Given the description of an element on the screen output the (x, y) to click on. 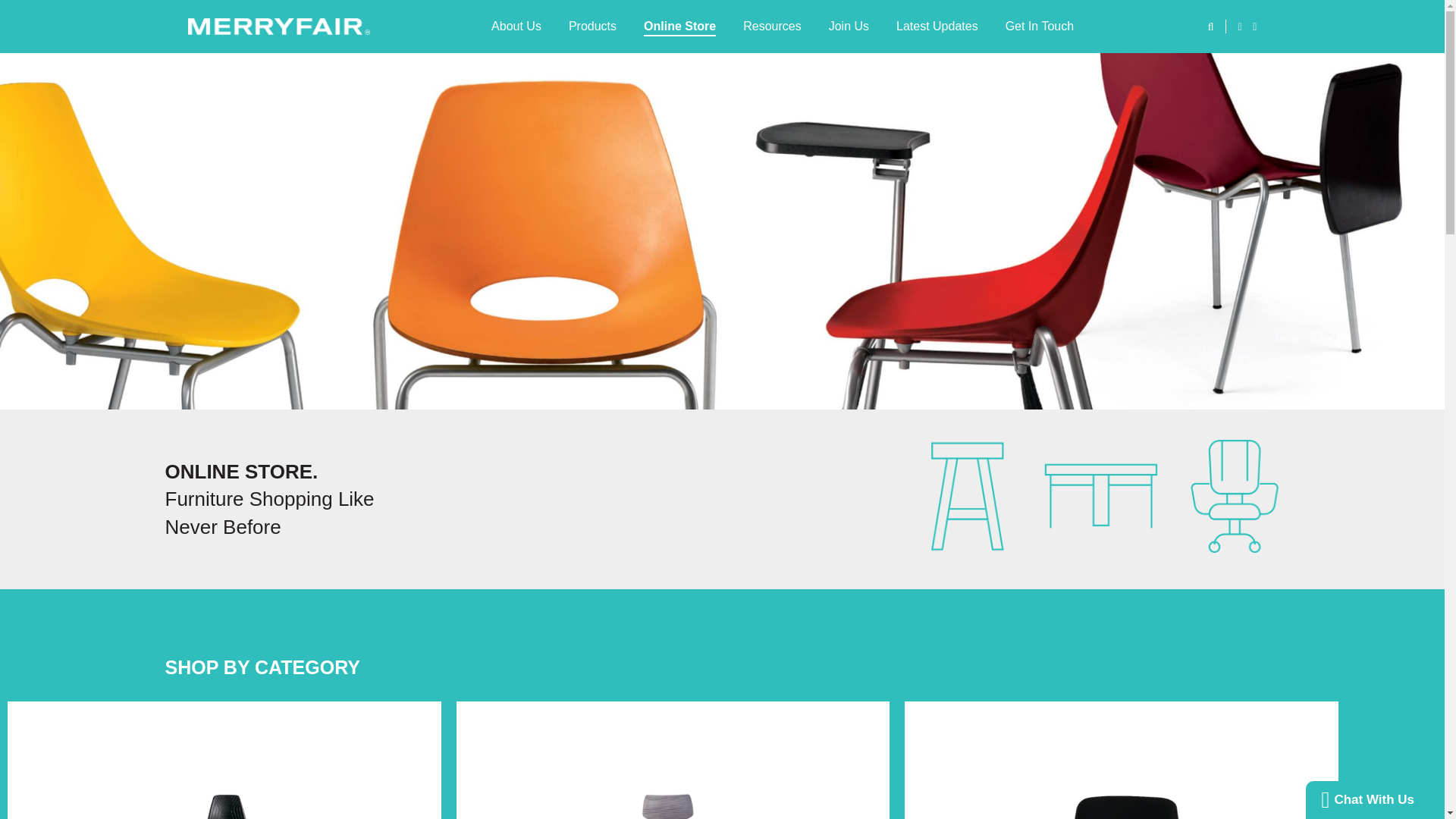
Get In Touch (1039, 26)
Latest Updates (936, 26)
Online Store (679, 26)
Resources (771, 26)
Join Us (848, 26)
Products (592, 26)
About Us (515, 26)
